Given the description of an element on the screen output the (x, y) to click on. 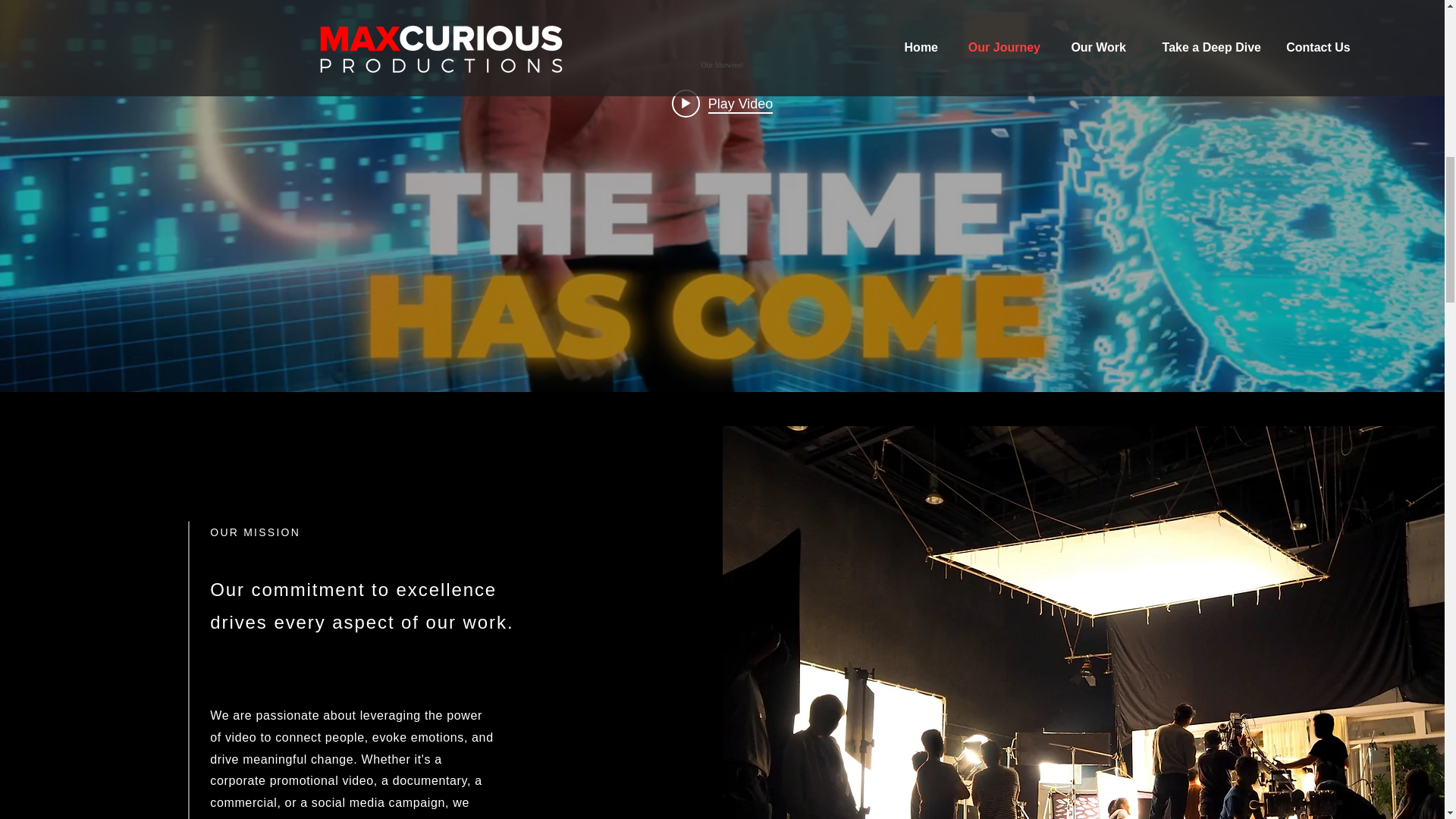
Our Showreel (721, 65)
Play Video (722, 103)
